Given the description of an element on the screen output the (x, y) to click on. 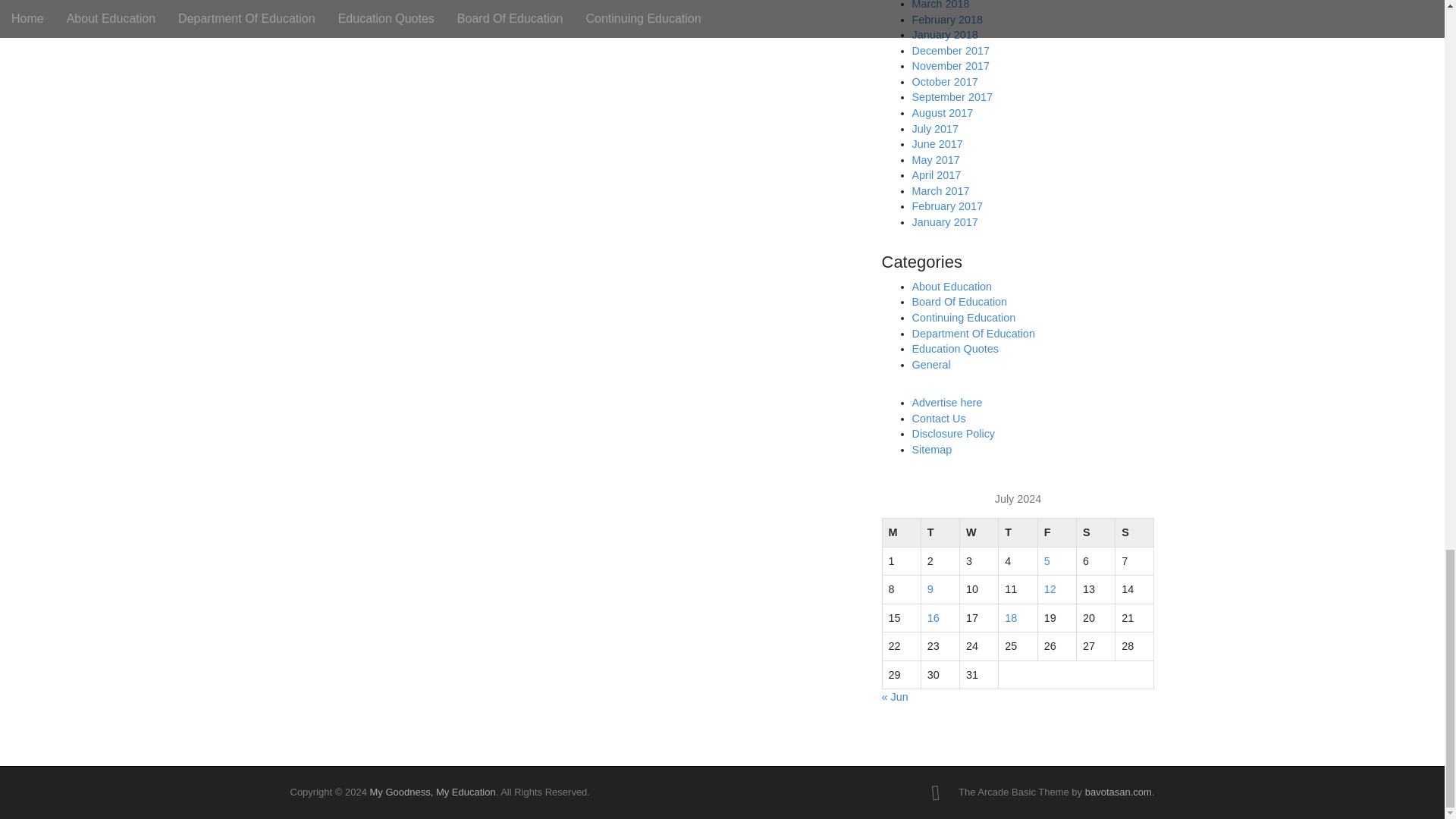
Saturday (1095, 532)
Thursday (1017, 532)
Sunday (1134, 532)
Tuesday (939, 532)
Friday (1055, 532)
Monday (901, 532)
Wednesday (978, 532)
